Given the description of an element on the screen output the (x, y) to click on. 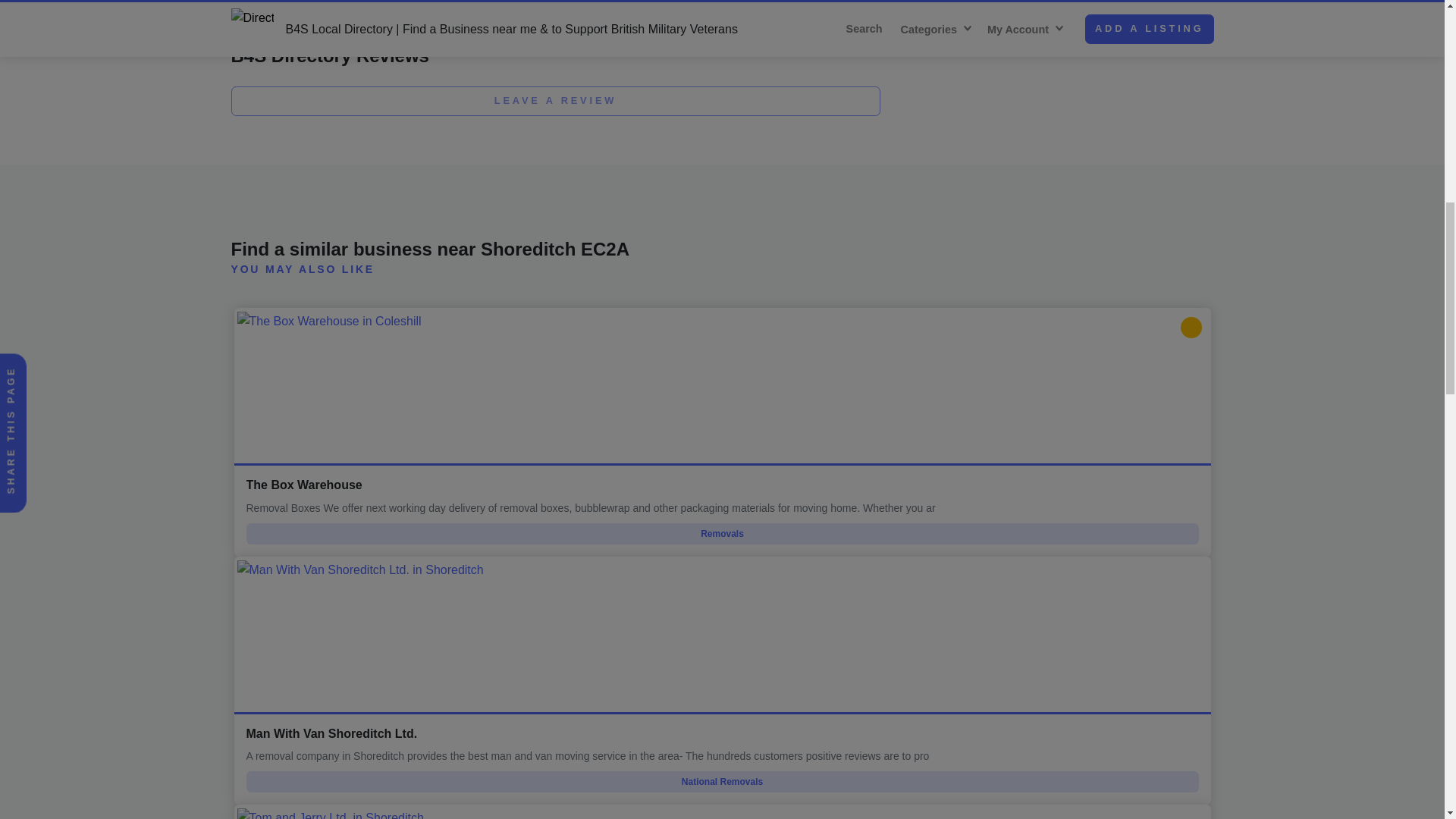
Tom and Jerry Ltd. in Shoreditch (720, 811)
LEAVE A REVIEW (554, 101)
